Given the description of an element on the screen output the (x, y) to click on. 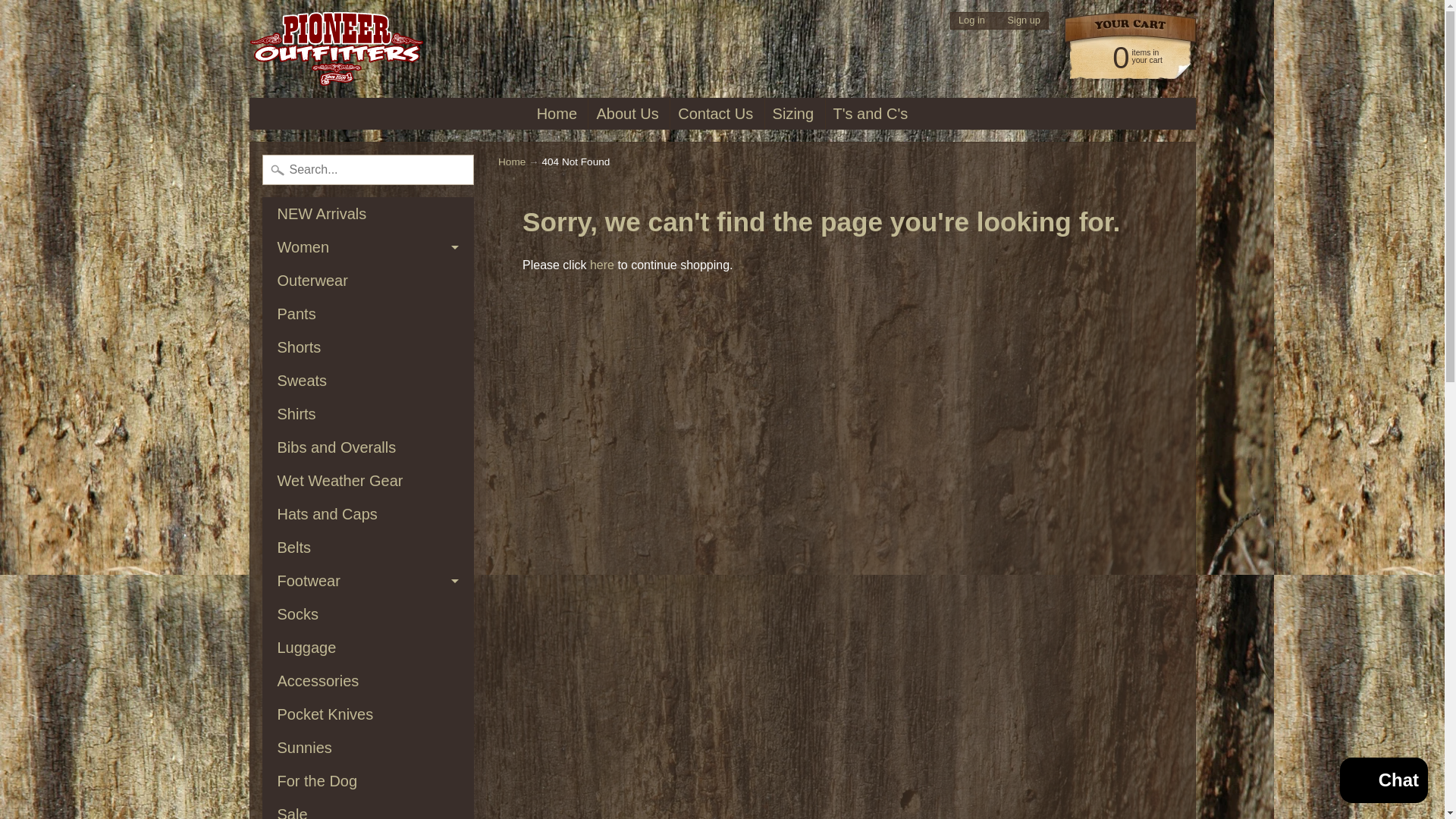
Pants (368, 313)
Log in (970, 20)
Shorts (368, 346)
Wet Weather Gear (368, 480)
Sizing (793, 113)
Belts (368, 547)
Sweats (368, 380)
Shopify online store chat (1383, 781)
Shirts (1122, 56)
